Given the description of an element on the screen output the (x, y) to click on. 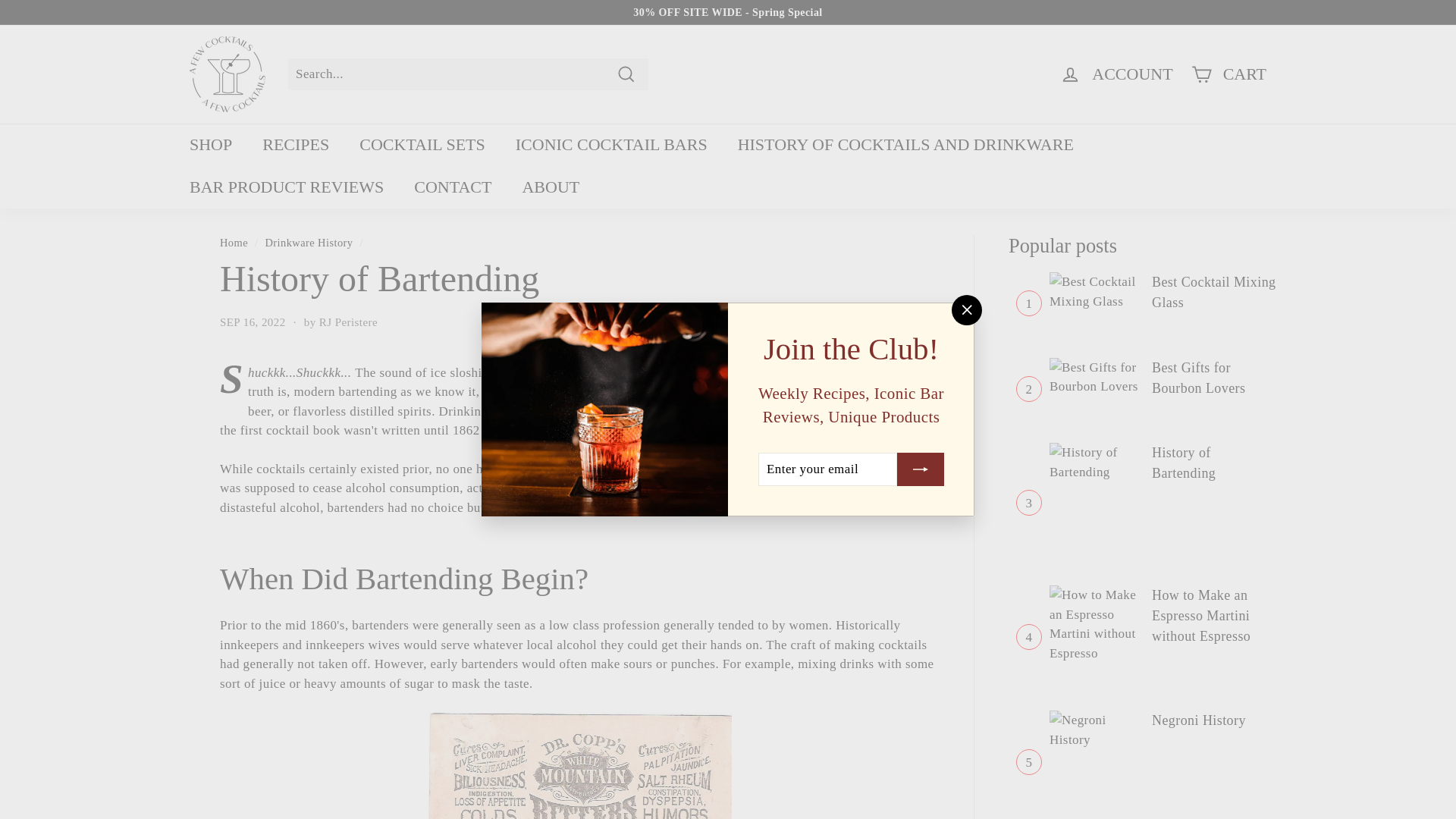
Back to the frontpage (233, 242)
ACCOUNT (1115, 73)
RECIPES (295, 144)
SHOP (210, 144)
